Given the description of an element on the screen output the (x, y) to click on. 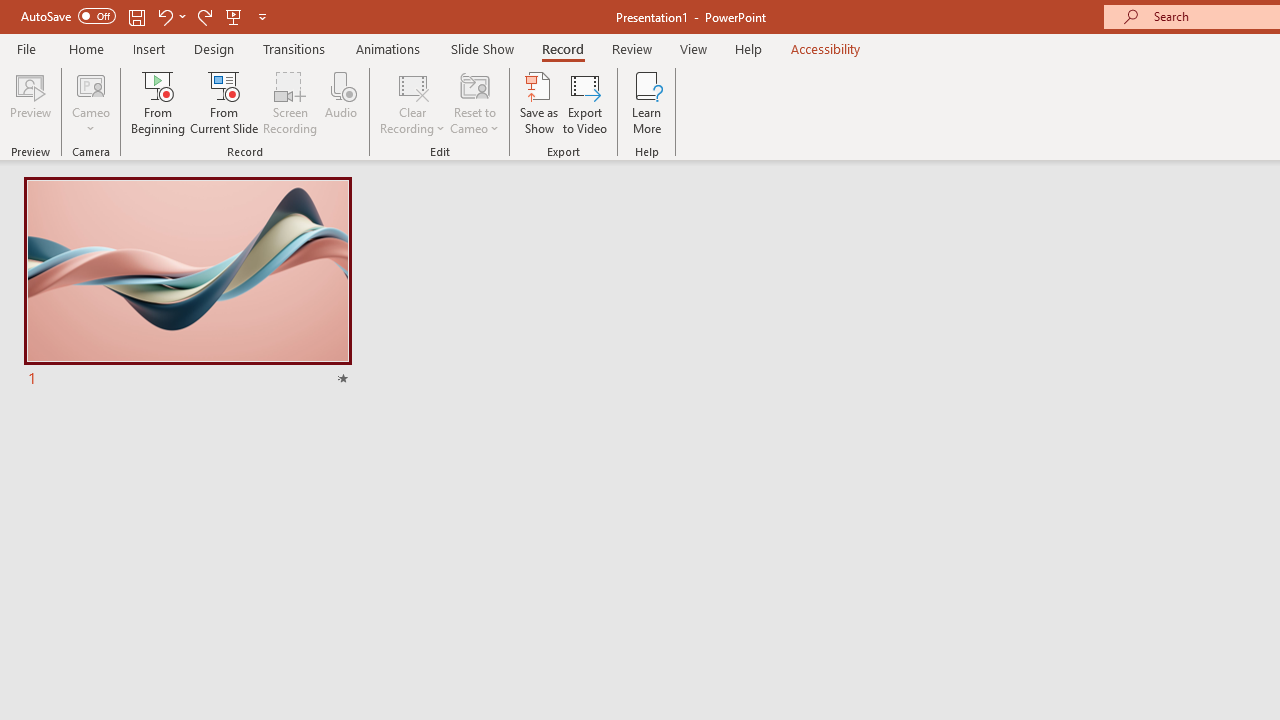
Save as Show (539, 102)
Screen Recording (290, 102)
Learn More (646, 102)
